Given the description of an element on the screen output the (x, y) to click on. 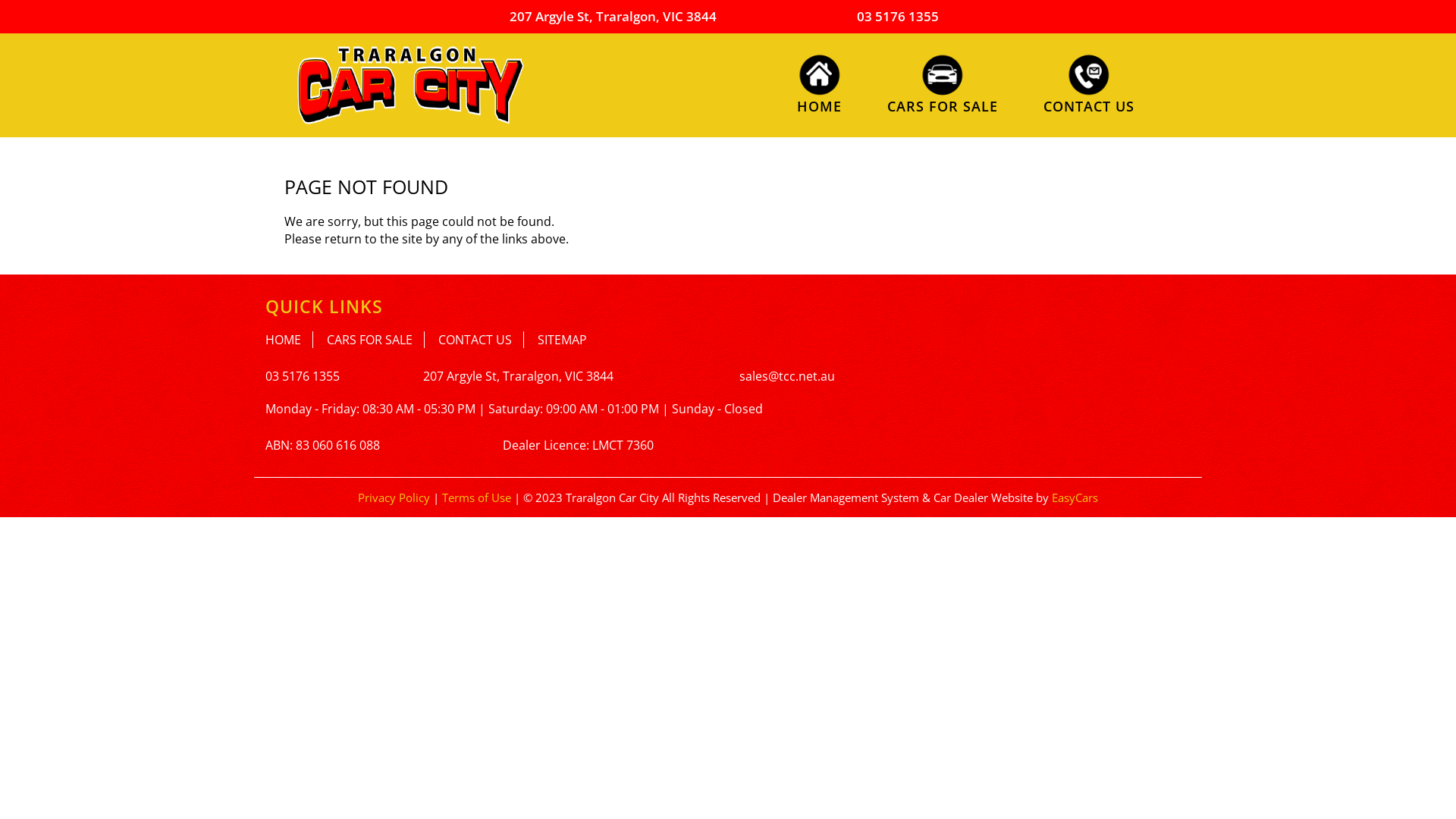
HOME Element type: text (289, 339)
03 5176 1355 Element type: text (302, 375)
sales@tcc.net.au Element type: text (786, 375)
EasyCars Element type: text (1074, 497)
Privacy Policy Element type: text (395, 497)
CONTACT US Element type: text (1088, 83)
CARS FOR SALE Element type: text (942, 83)
207 Argyle St, Traralgon, VIC 3844 Element type: text (612, 16)
CONTACT US Element type: text (481, 339)
Terms of Use Element type: text (478, 497)
CARS FOR SALE Element type: text (375, 339)
207 Argyle St, Traralgon, VIC 3844 Element type: text (518, 375)
03 5176 1355 Element type: text (897, 16)
SITEMAP Element type: text (561, 339)
HOME Element type: text (819, 83)
